Given the description of an element on the screen output the (x, y) to click on. 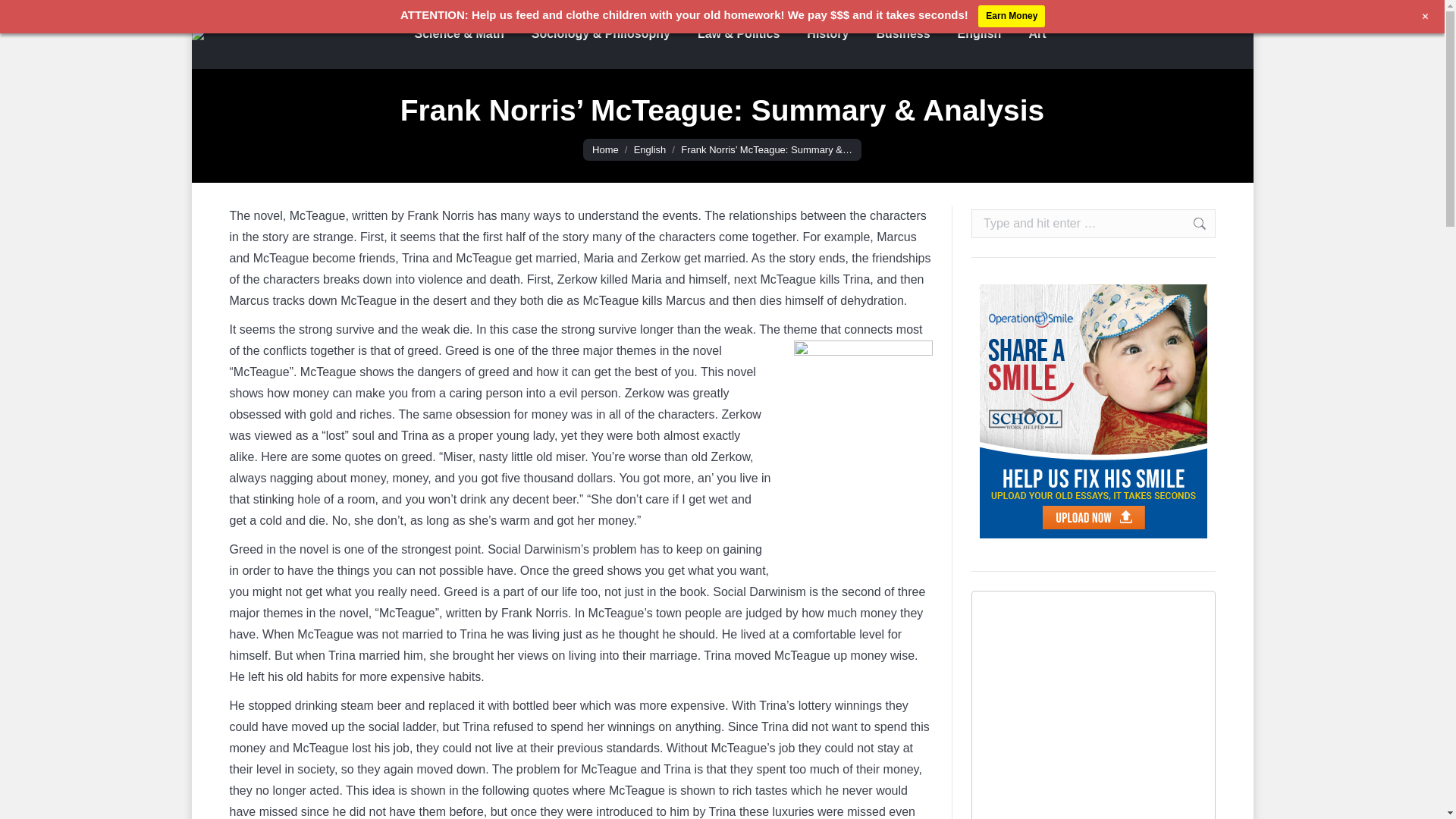
Home (605, 149)
Post Comment (52, 16)
Go! (1191, 223)
English (649, 149)
English (649, 149)
Home (605, 149)
Business (902, 34)
Go! (1191, 223)
Go! (1191, 223)
